Given the description of an element on the screen output the (x, y) to click on. 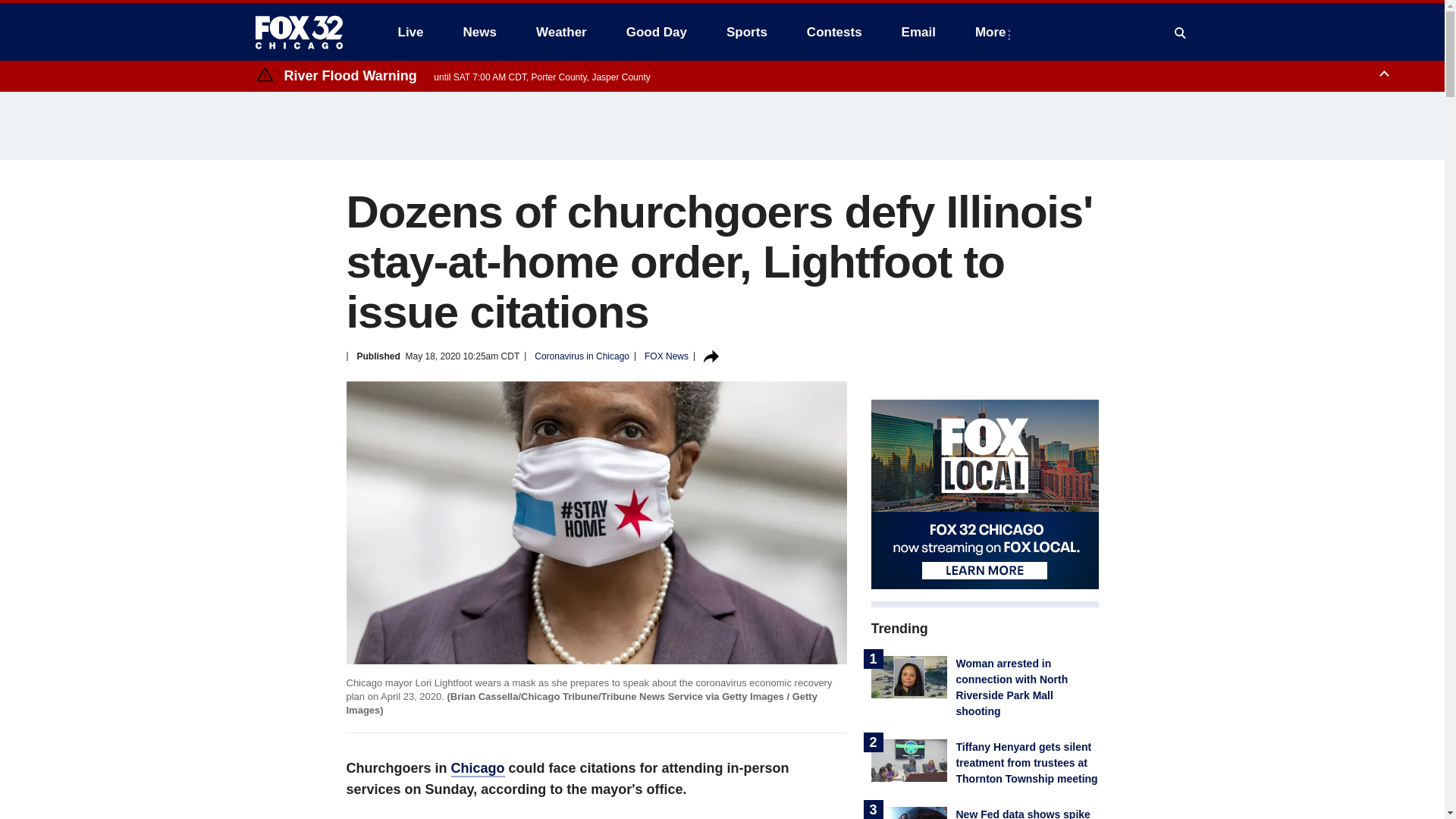
Live (410, 32)
Contests (834, 32)
More (993, 32)
Good Day (656, 32)
News (479, 32)
Weather (561, 32)
Sports (746, 32)
Email (918, 32)
